Given the description of an element on the screen output the (x, y) to click on. 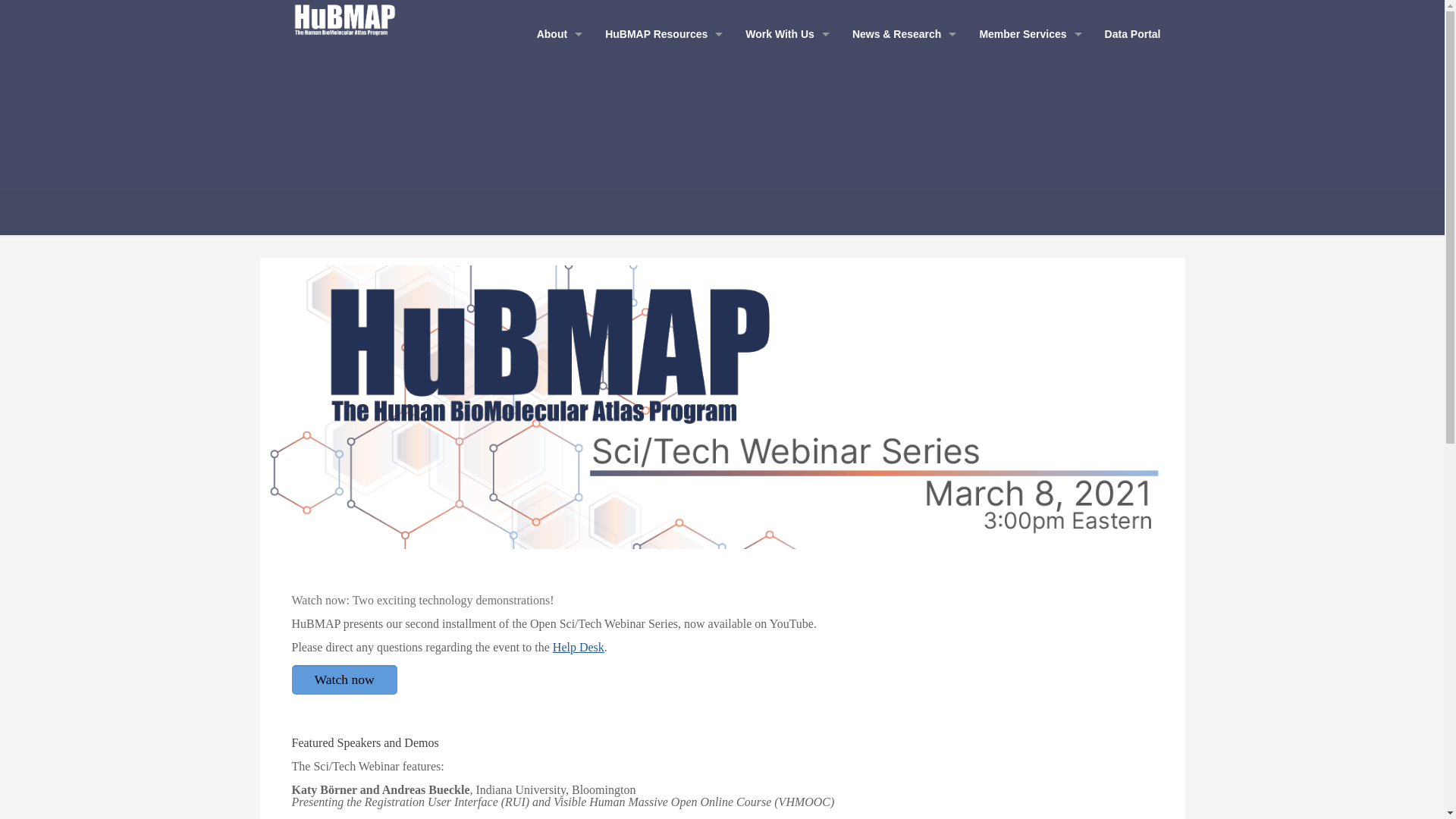
Work With Us (783, 33)
Watch now (343, 680)
HuBMAP Consortium (343, 18)
HuBMAP Resources (659, 33)
Help Desk (578, 646)
Data Portal (1132, 33)
About (555, 33)
Member Services (1026, 33)
